Given the description of an element on the screen output the (x, y) to click on. 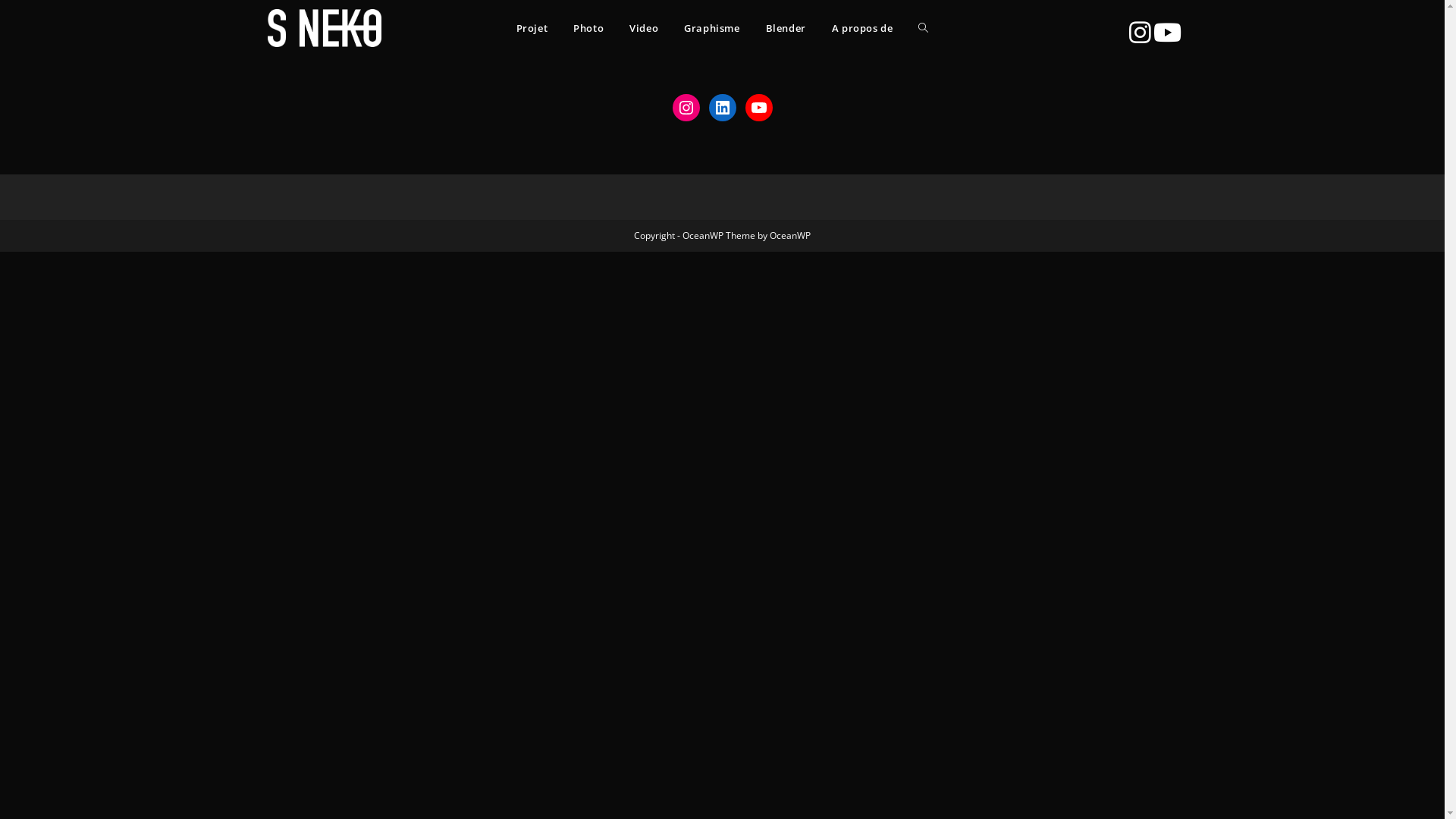
YouTube Element type: text (757, 107)
Graphisme Element type: text (711, 28)
Instagram Element type: text (685, 107)
Toggle website search Element type: text (923, 28)
Blender Element type: text (786, 28)
Projet Element type: text (532, 28)
LinkedIn Element type: text (721, 107)
Video Element type: text (643, 28)
A propos de Element type: text (862, 28)
Photo Element type: text (588, 28)
